Given the description of an element on the screen output the (x, y) to click on. 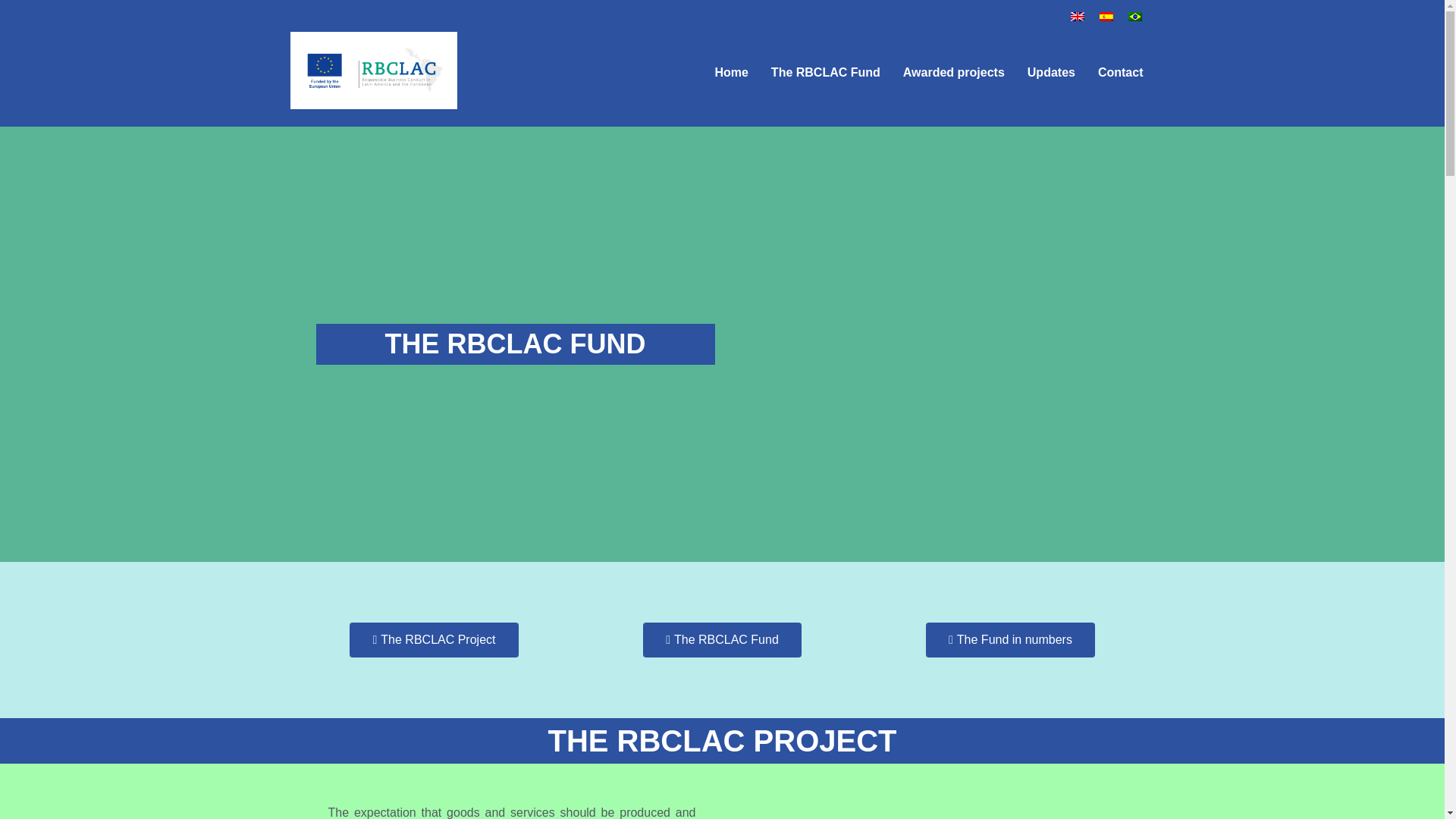
The RBCLAC Fund (825, 72)
Updates (1051, 72)
The Fund in numbers (1010, 639)
The RBCLAC Fund (722, 639)
Contact (1120, 72)
The RBCLAC Project (433, 639)
Home (730, 72)
Awarded projects (953, 72)
